Given the description of an element on the screen output the (x, y) to click on. 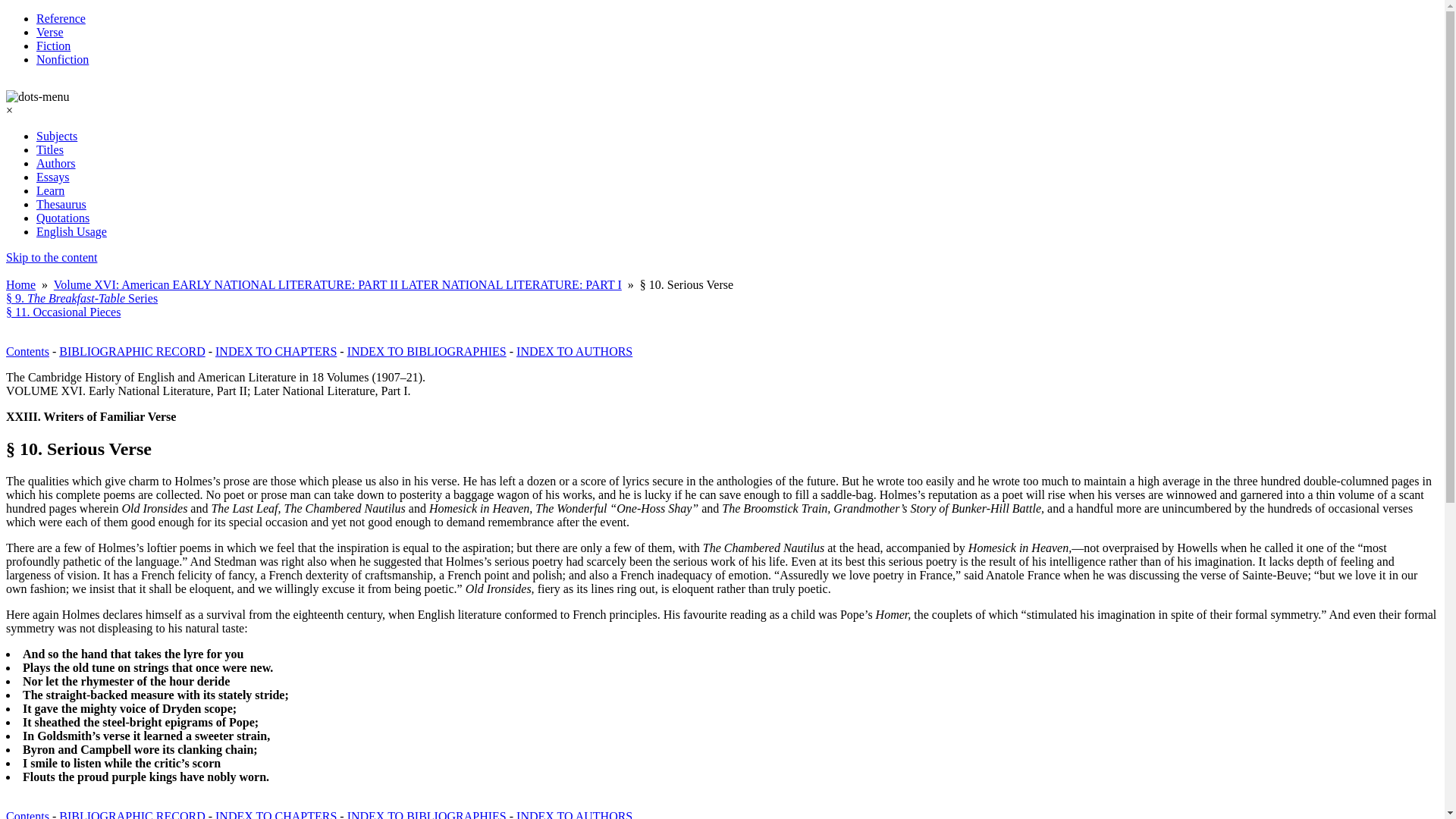
INDEX TO AUTHORS (573, 814)
Titles (50, 149)
English Usage (71, 231)
Subjects (56, 135)
Essays (52, 176)
Authors (55, 163)
Reference (60, 18)
INDEX TO BIBLIOGRAPHIES (426, 814)
Home (19, 284)
Contents (27, 350)
BIBLIOGRAPHIC RECORD (132, 814)
Quotations (62, 217)
Thesaurus (60, 204)
Contents (27, 814)
INDEX TO AUTHORS (573, 350)
